Given the description of an element on the screen output the (x, y) to click on. 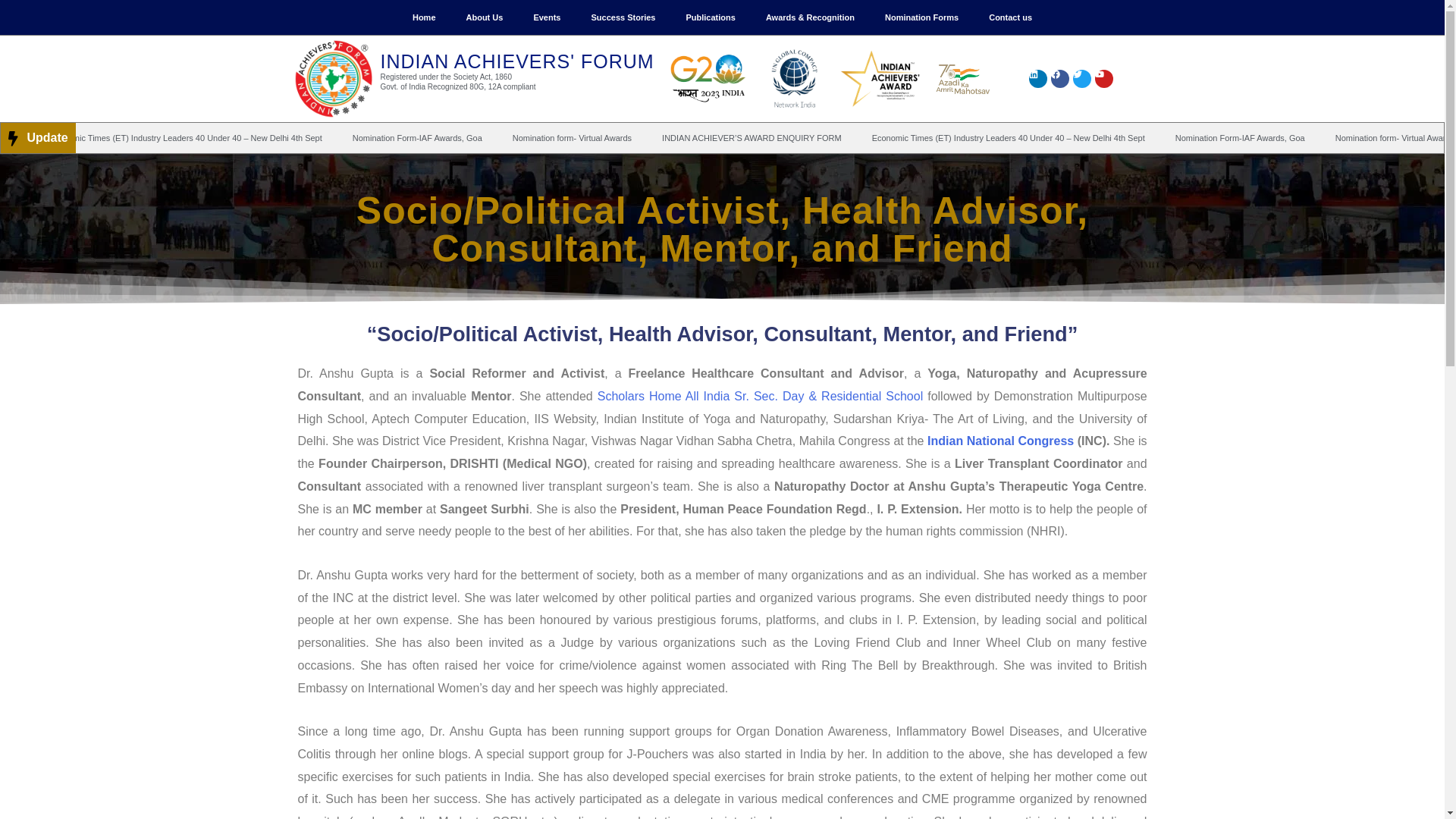
Events (546, 17)
Success Stories (622, 17)
About Us (483, 17)
Home (424, 17)
Publications (709, 17)
Nomination Forms (921, 17)
Contact us (1010, 17)
